Given the description of an element on the screen output the (x, y) to click on. 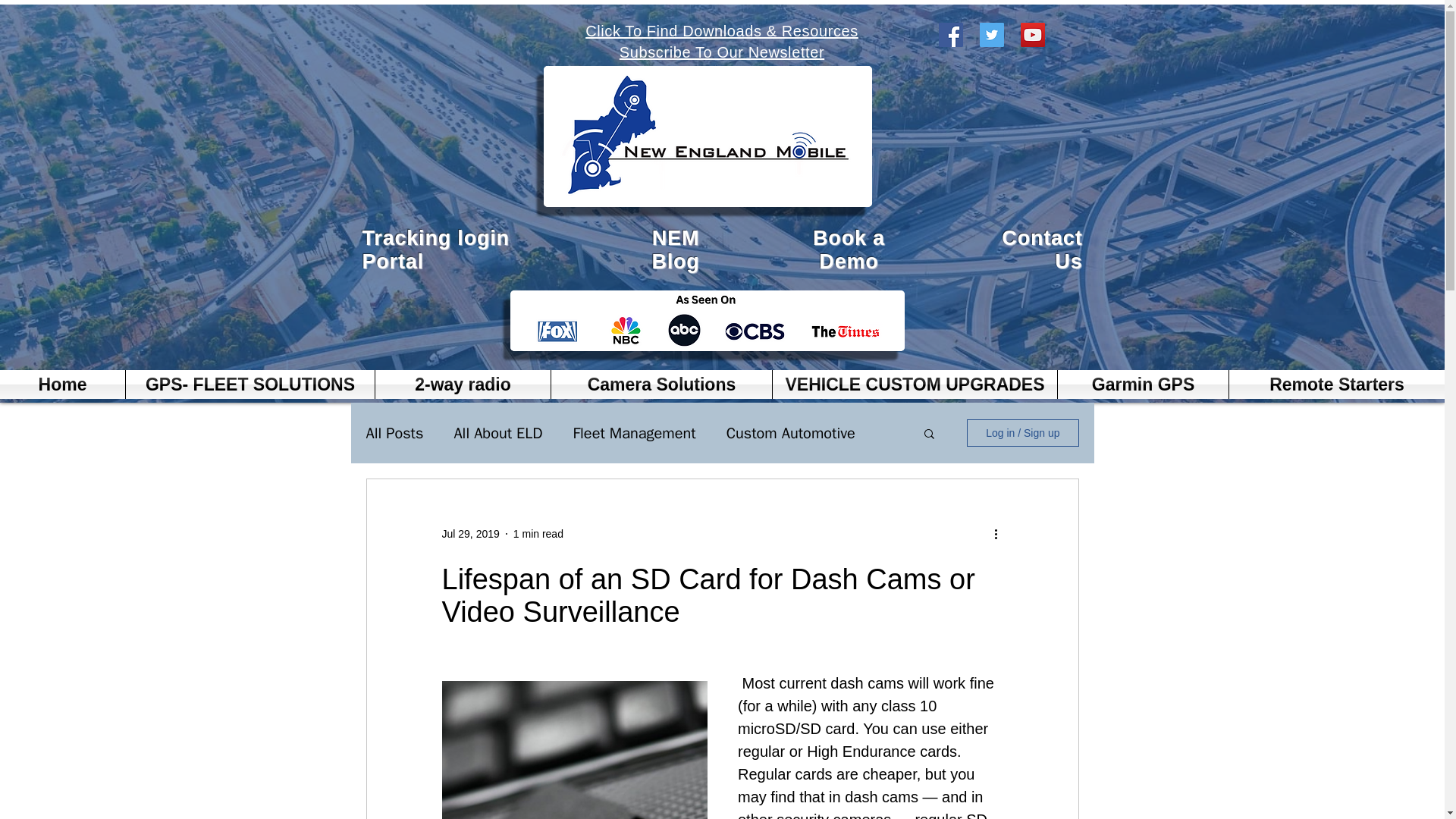
1 min read (538, 533)
Jul 29, 2019 (470, 533)
2-way radio (462, 384)
GPS- FLEET SOLUTIONS (249, 384)
Fleet Management (633, 433)
Camera Solutions (661, 384)
Book a Demo (848, 249)
Custom Automotive (791, 433)
Subscribe To Our Newsletter (722, 52)
All Posts (394, 433)
VEHICLE CUSTOM UPGRADES (915, 384)
NEM Blog (674, 249)
Garmin GPS (1143, 384)
Home (62, 384)
Contact Us (1041, 249)
